Given the description of an element on the screen output the (x, y) to click on. 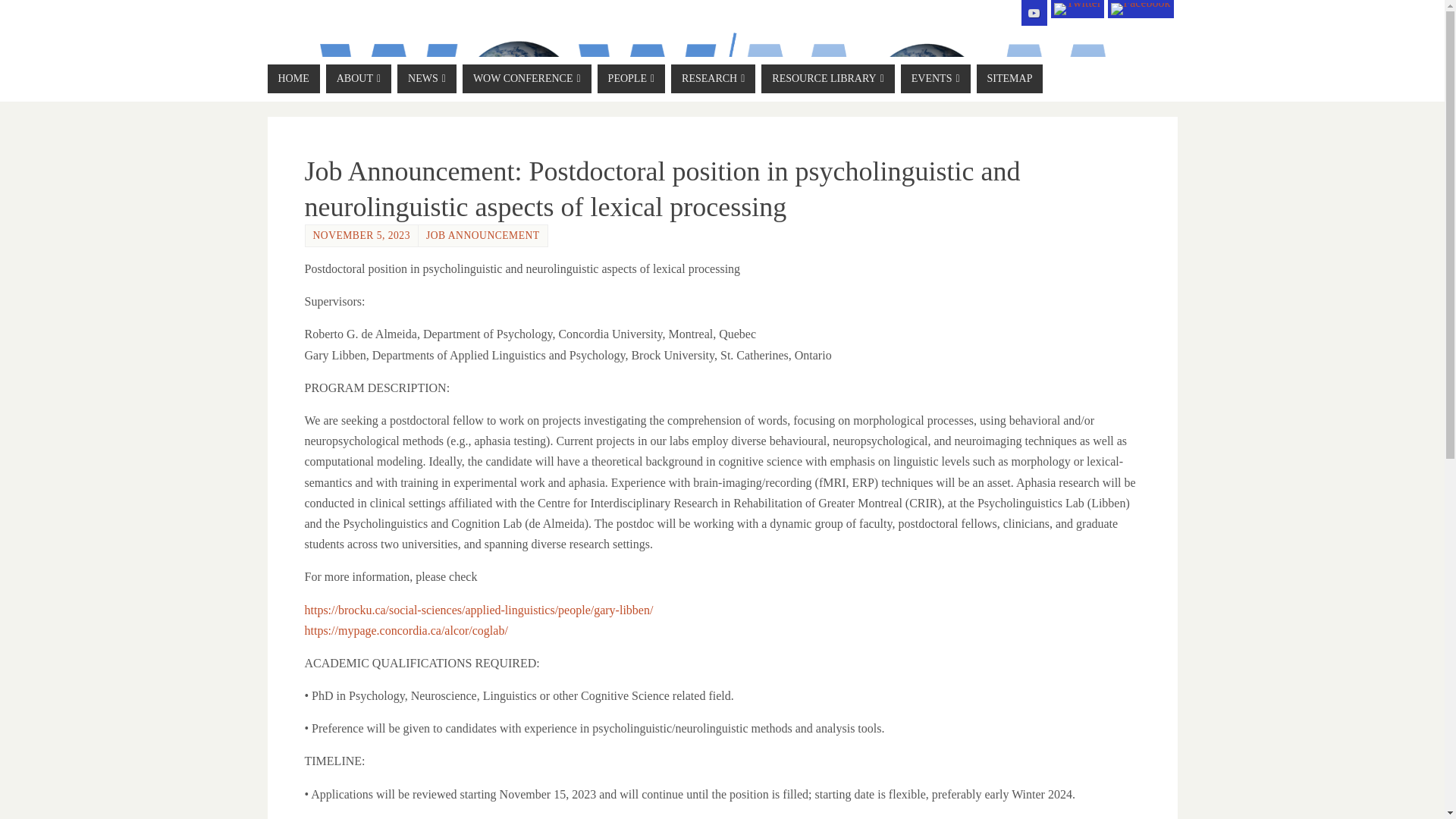
NEWS (427, 78)
WOW CONFERENCE (527, 78)
RESEARCH (713, 78)
Facebook (1140, 9)
YouTube (1034, 12)
PEOPLE (630, 78)
HOME (292, 78)
Twitter (1077, 9)
ABOUT (358, 78)
